Given the description of an element on the screen output the (x, y) to click on. 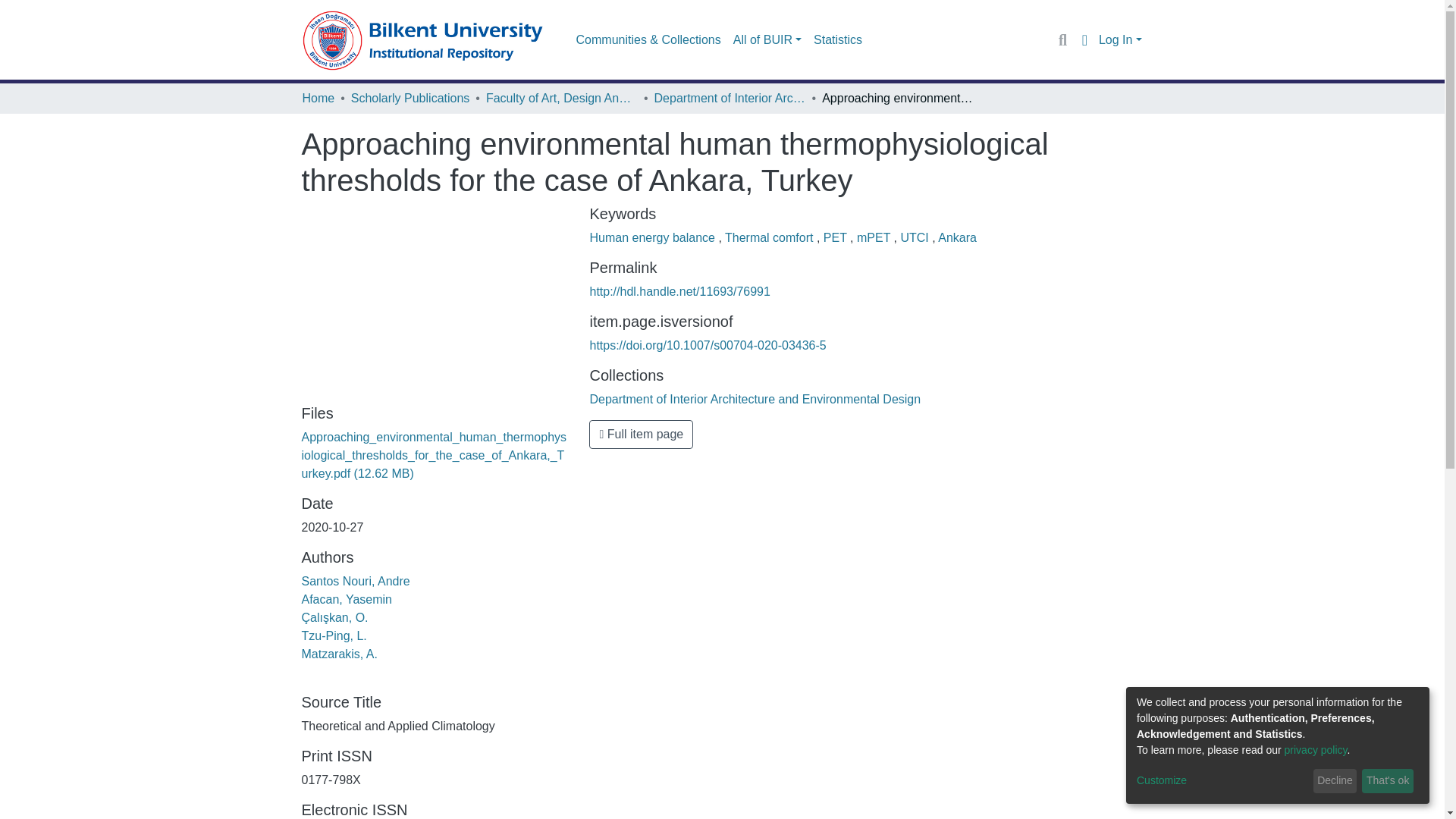
Santos Nouri, Andre (355, 581)
Search (1061, 40)
PET (837, 237)
Department of Interior Architecture and Environmental Design (754, 399)
Ankara (956, 237)
mPET (875, 237)
Language switch (1084, 40)
Statistics (837, 40)
Log In (1119, 39)
All of BUIR (767, 40)
Scholarly Publications (410, 98)
Department of Interior Architecture and Environmental Design (729, 98)
Statistics (837, 40)
Matzarakis, A. (339, 653)
Full item page (641, 434)
